Given the description of an element on the screen output the (x, y) to click on. 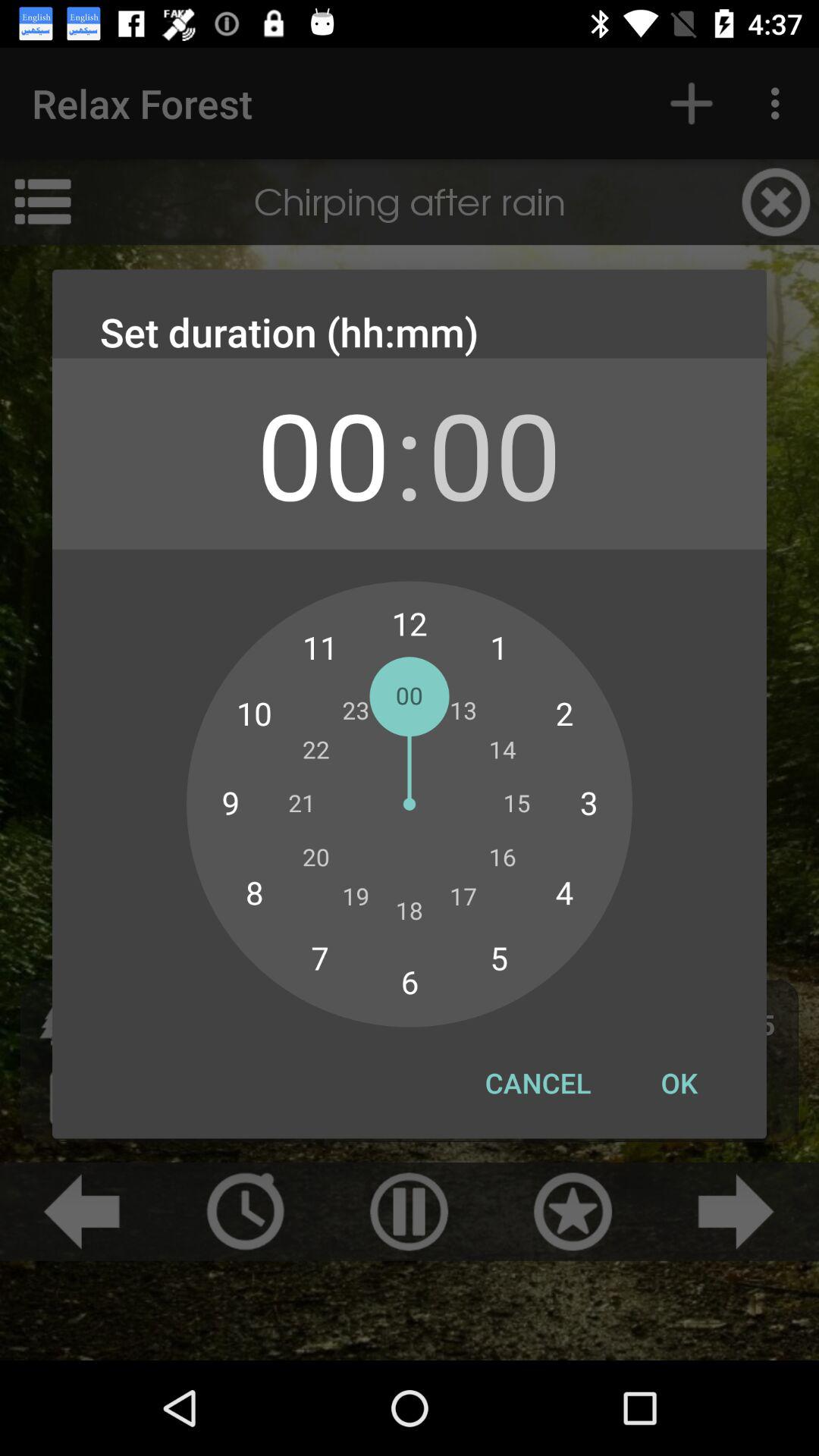
choose cancel button (538, 1082)
